Given the description of an element on the screen output the (x, y) to click on. 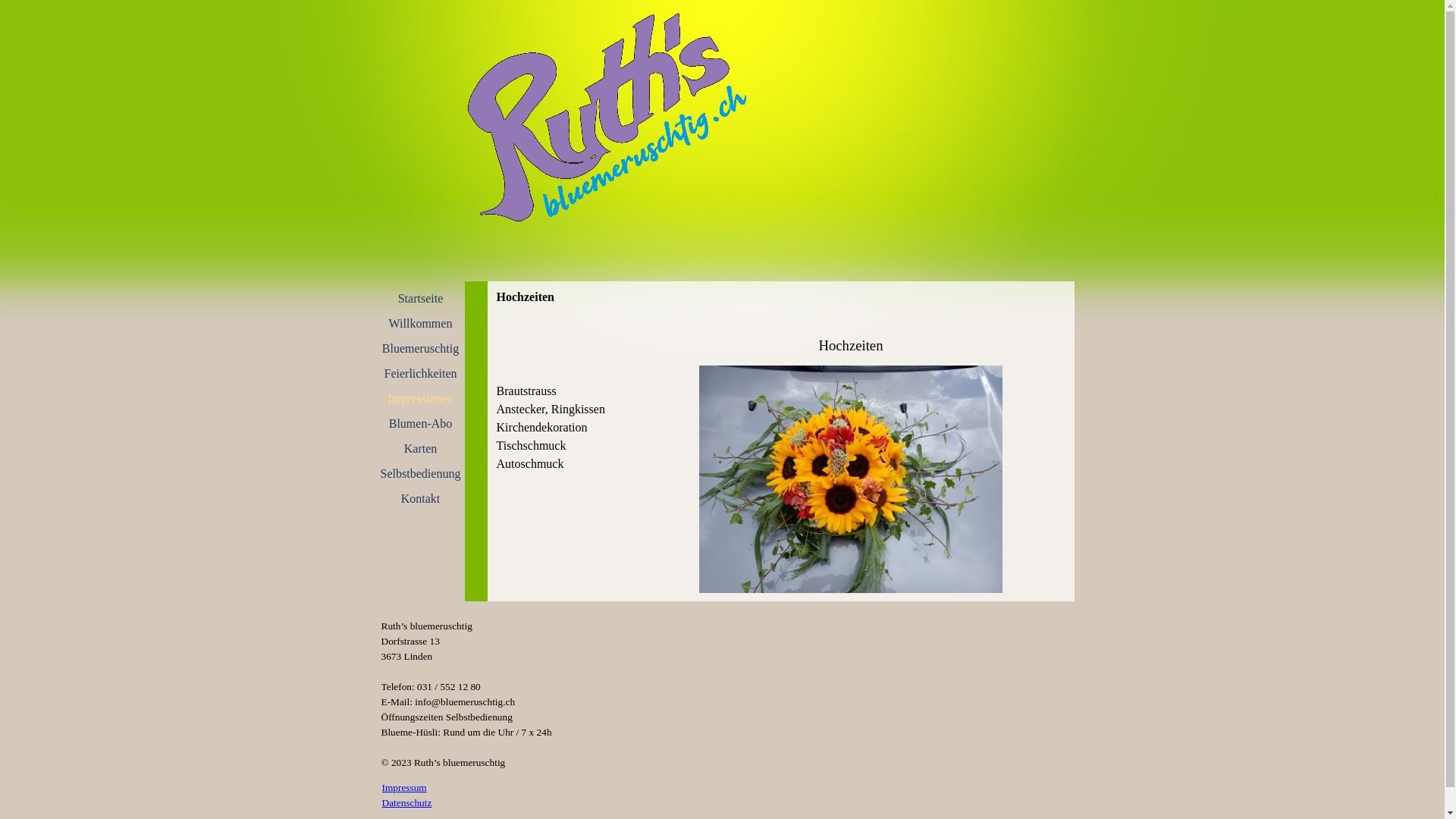
Kontakt Element type: text (420, 498)
Impressum Element type: text (404, 787)
Karten Element type: text (420, 448)
Selbstbedienung Element type: text (420, 473)
Datenschutz Element type: text (407, 802)
Bluemeruschtig Element type: text (420, 348)
Willkommen Element type: text (420, 323)
Blumen-Abo Element type: text (420, 423)
Startseite Element type: text (420, 298)
